Given the description of an element on the screen output the (x, y) to click on. 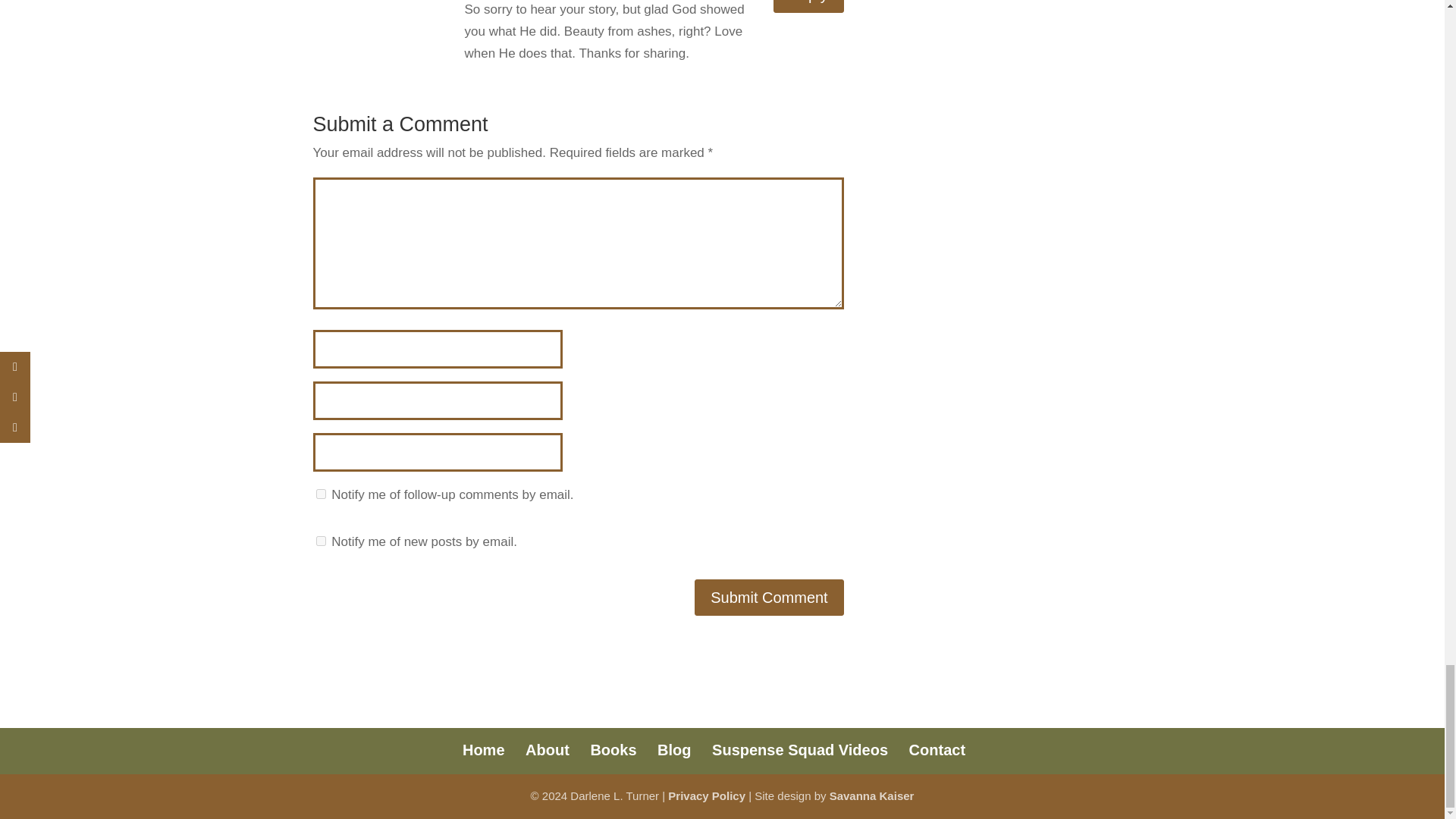
Submit Comment (769, 597)
subscribe (319, 541)
Reply (808, 6)
subscribe (319, 493)
